Given the description of an element on the screen output the (x, y) to click on. 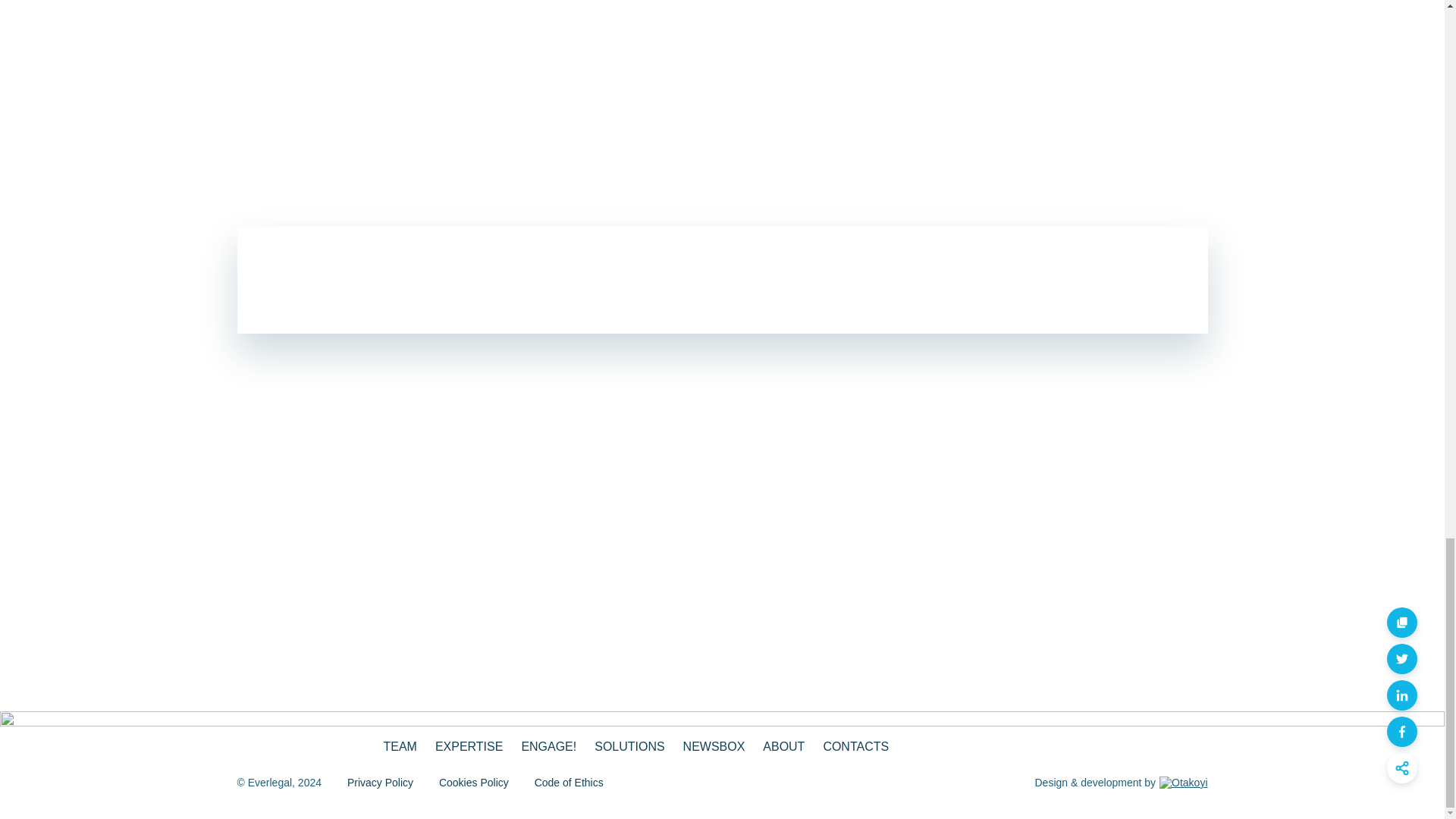
Expertise (468, 746)
About  (783, 746)
EXPERTISE (468, 746)
Solutions (628, 746)
NewsBox (713, 746)
Educational project (548, 746)
TEAM (400, 746)
Contacts (855, 746)
Team (400, 746)
